Given the description of an element on the screen output the (x, y) to click on. 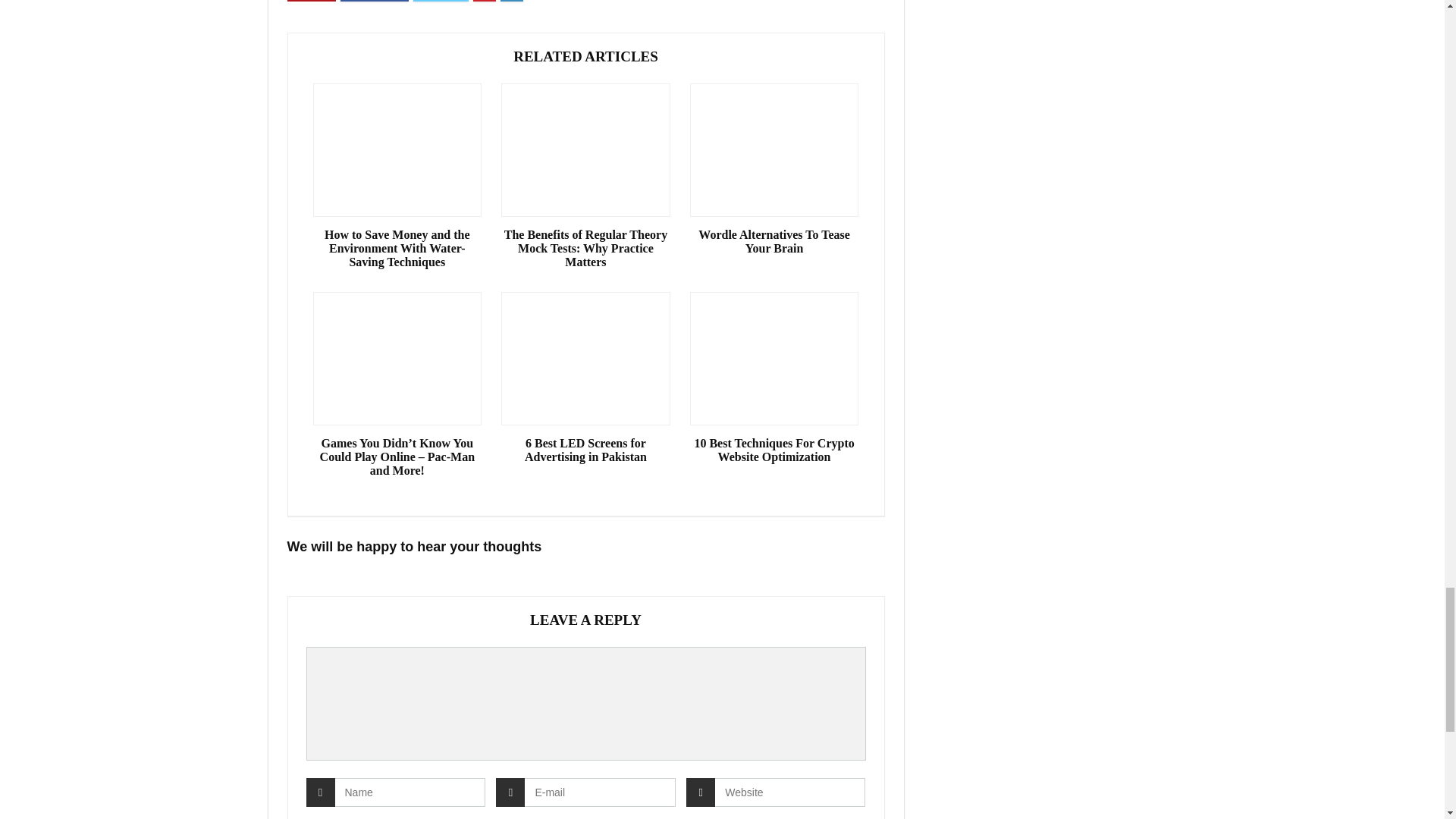
10 Best Techniques For Crypto Website Optimization (774, 450)
Wordle  Alternatives To Tease Your Brain (774, 241)
6 Best LED Screens for Advertising in Pakistan (584, 450)
